Given the description of an element on the screen output the (x, y) to click on. 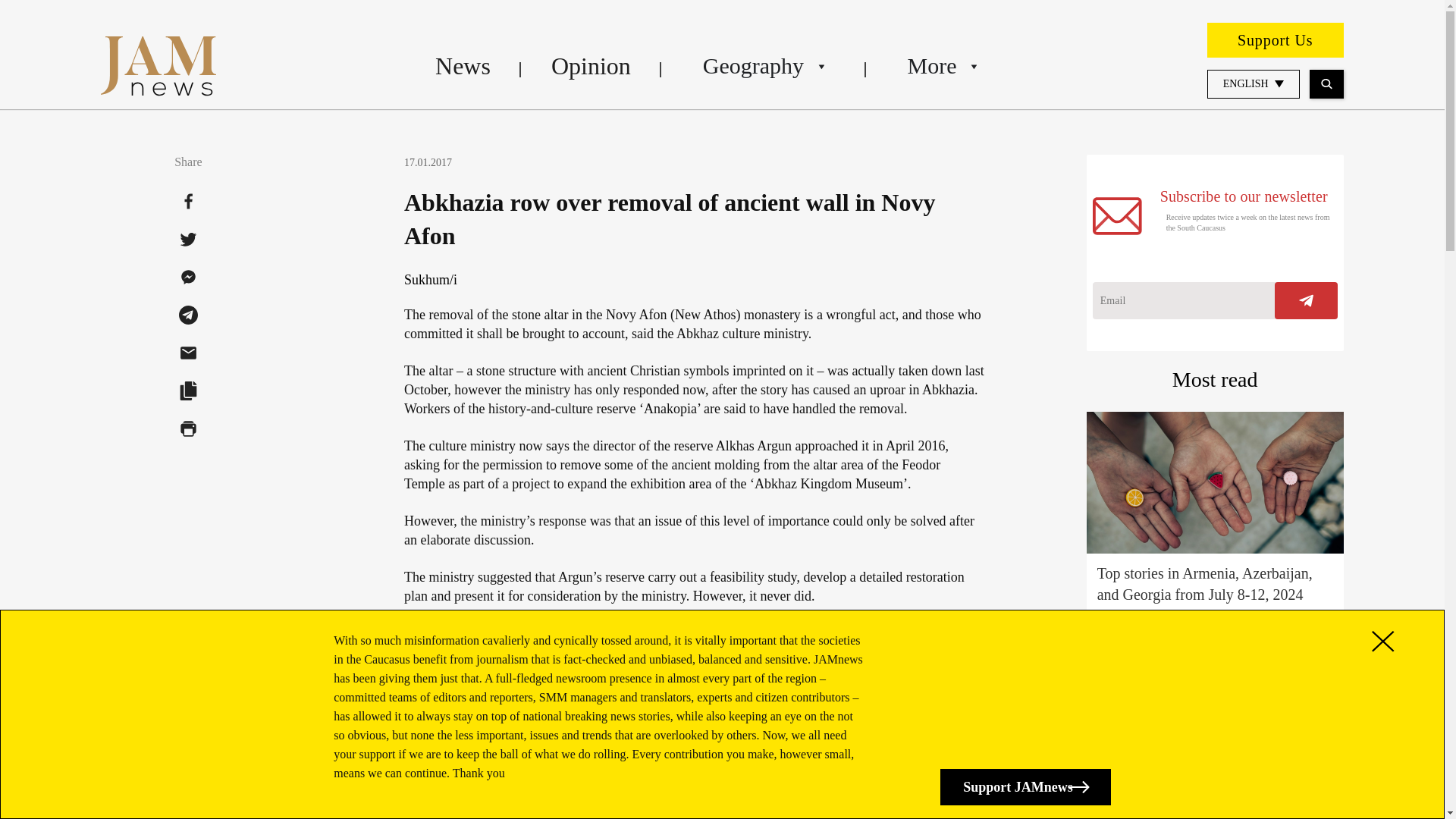
More (942, 65)
Support Us (1275, 39)
News (462, 65)
Geography (763, 65)
Opinion (591, 65)
